Given the description of an element on the screen output the (x, y) to click on. 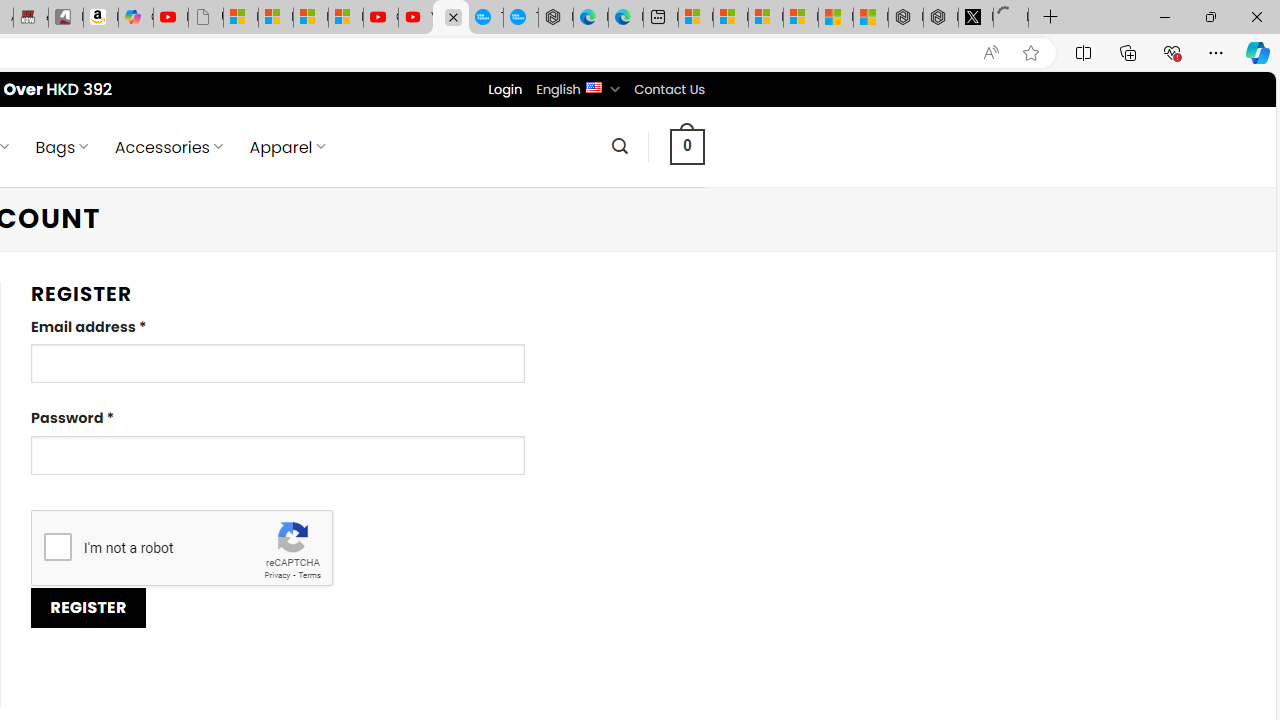
  0   (687, 146)
 0  (687, 146)
I'm not a robot (57, 546)
